Given the description of an element on the screen output the (x, y) to click on. 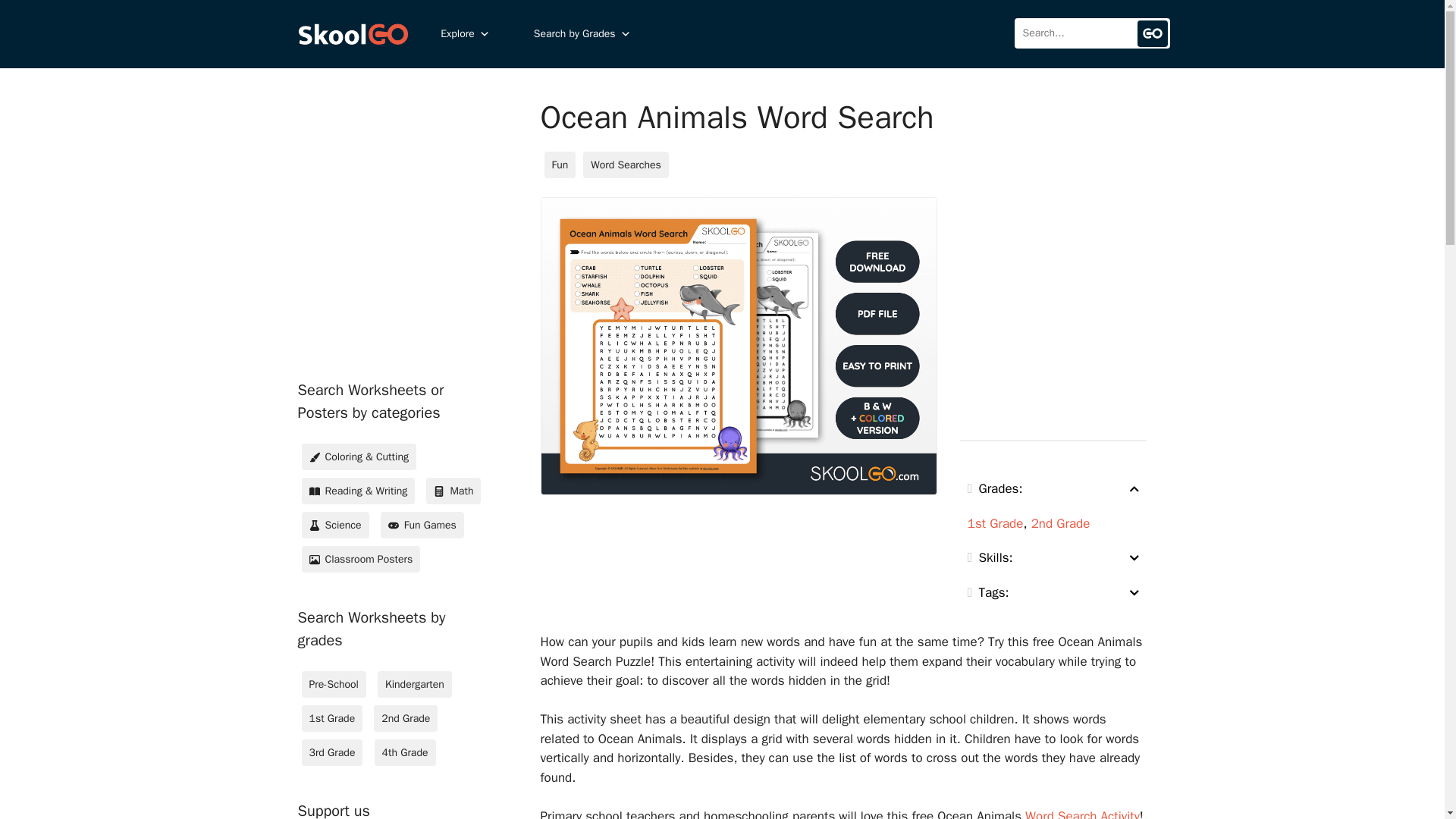
SKOOLGO (354, 33)
Advertisement (448, 223)
Advertisement (1092, 303)
Explore (465, 34)
